Given the description of an element on the screen output the (x, y) to click on. 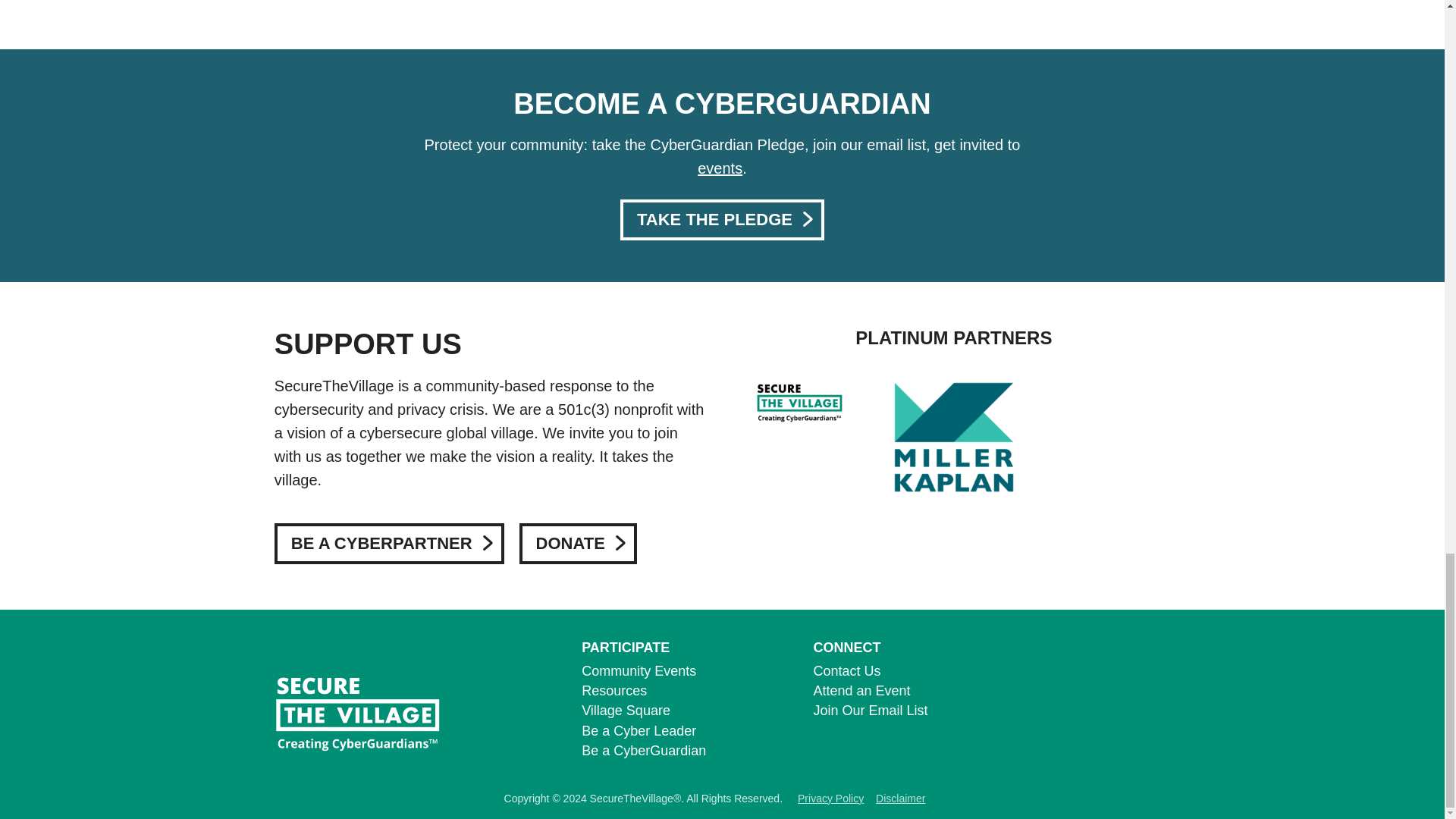
events (719, 167)
